Given the description of an element on the screen output the (x, y) to click on. 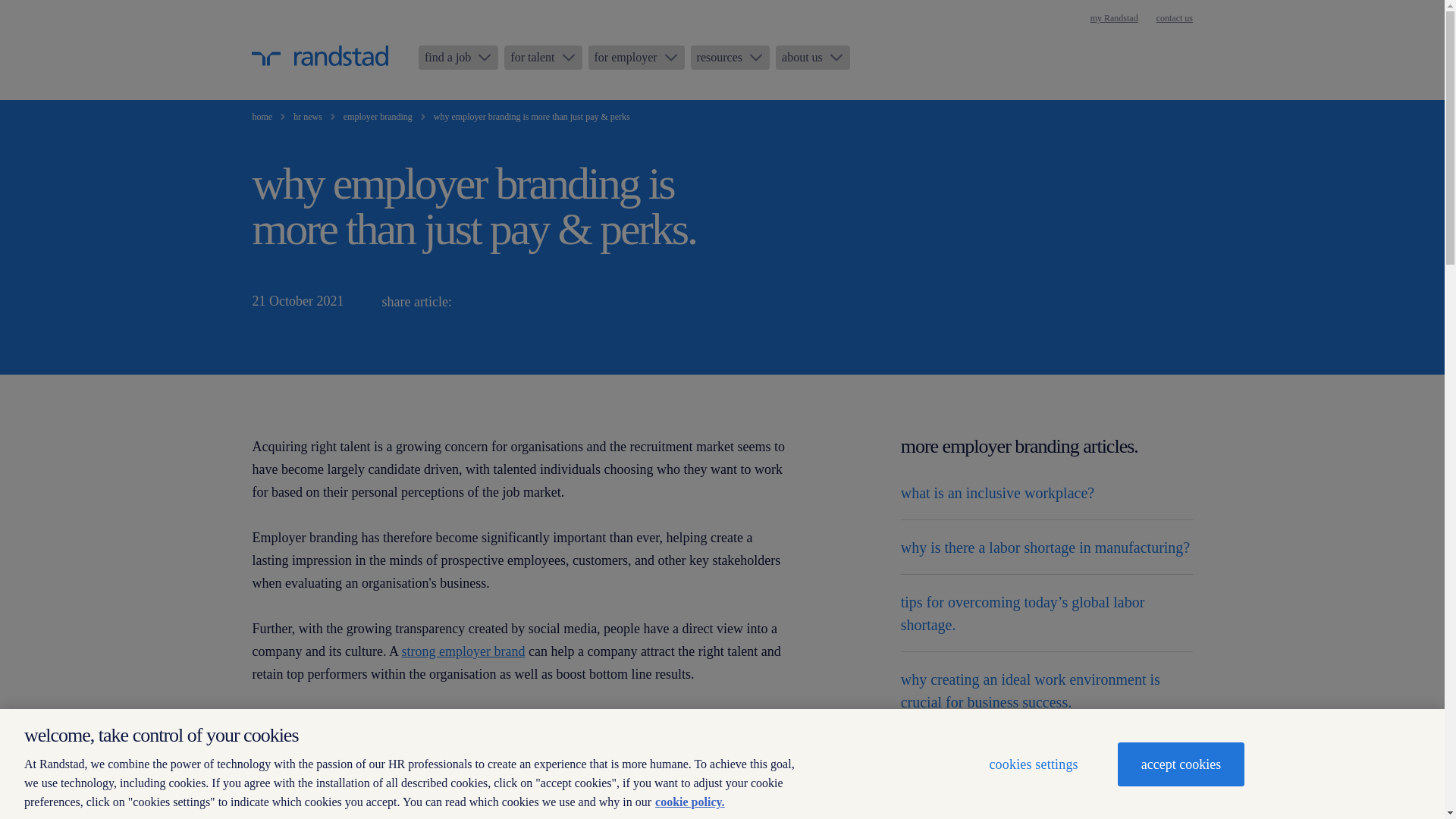
my Randstad (1114, 18)
share this article on facebook (550, 301)
share this article on twitter (514, 301)
share this article on linkedin (479, 301)
contact us (1174, 18)
find a job (458, 57)
for talent (541, 57)
